Given the description of an element on the screen output the (x, y) to click on. 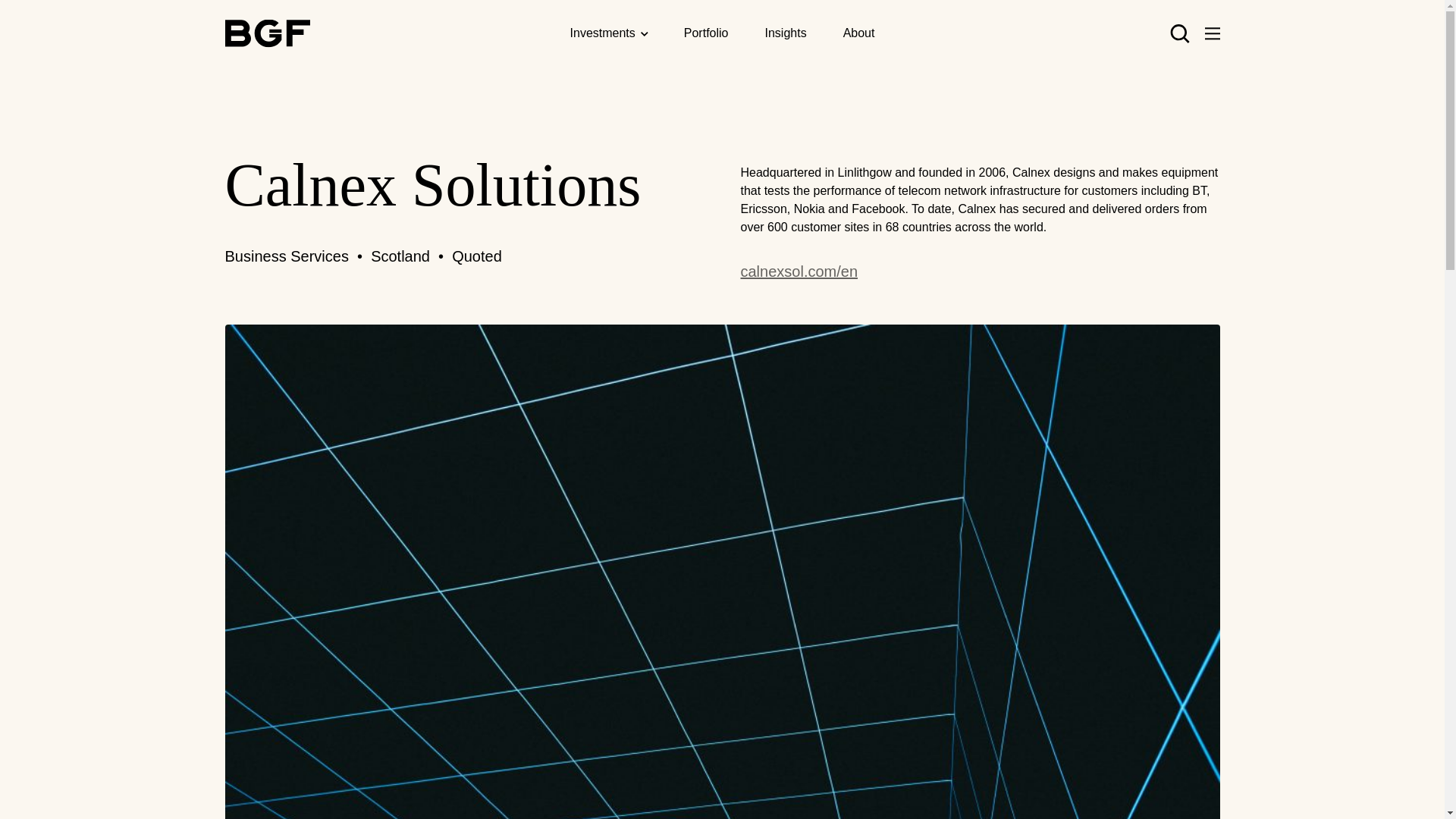
About (859, 32)
Portfolio (706, 32)
Insights (785, 32)
Investments (602, 33)
Search (962, 104)
